Given the description of an element on the screen output the (x, y) to click on. 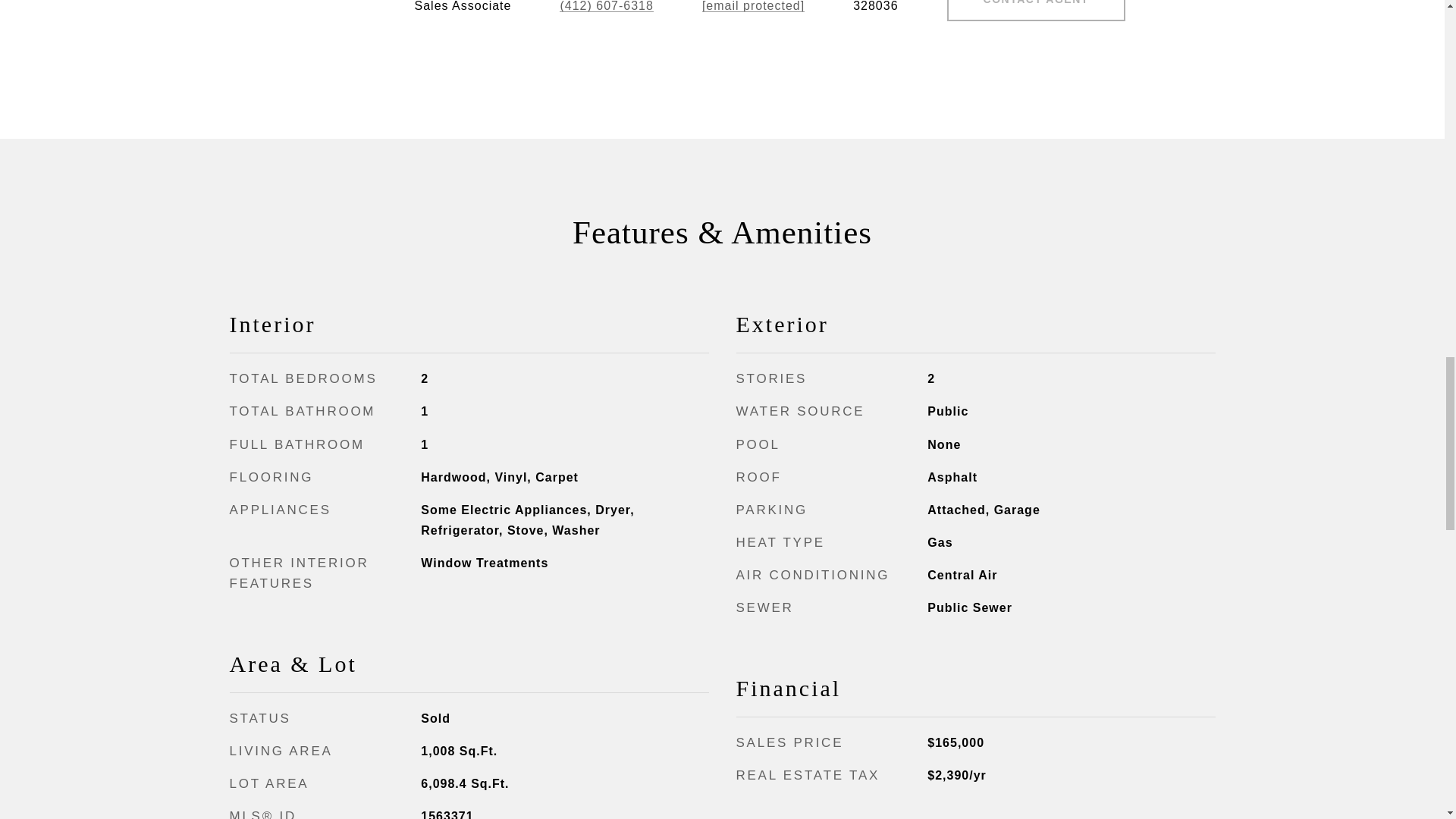
CONTACT AGENT (1036, 10)
